Given the description of an element on the screen output the (x, y) to click on. 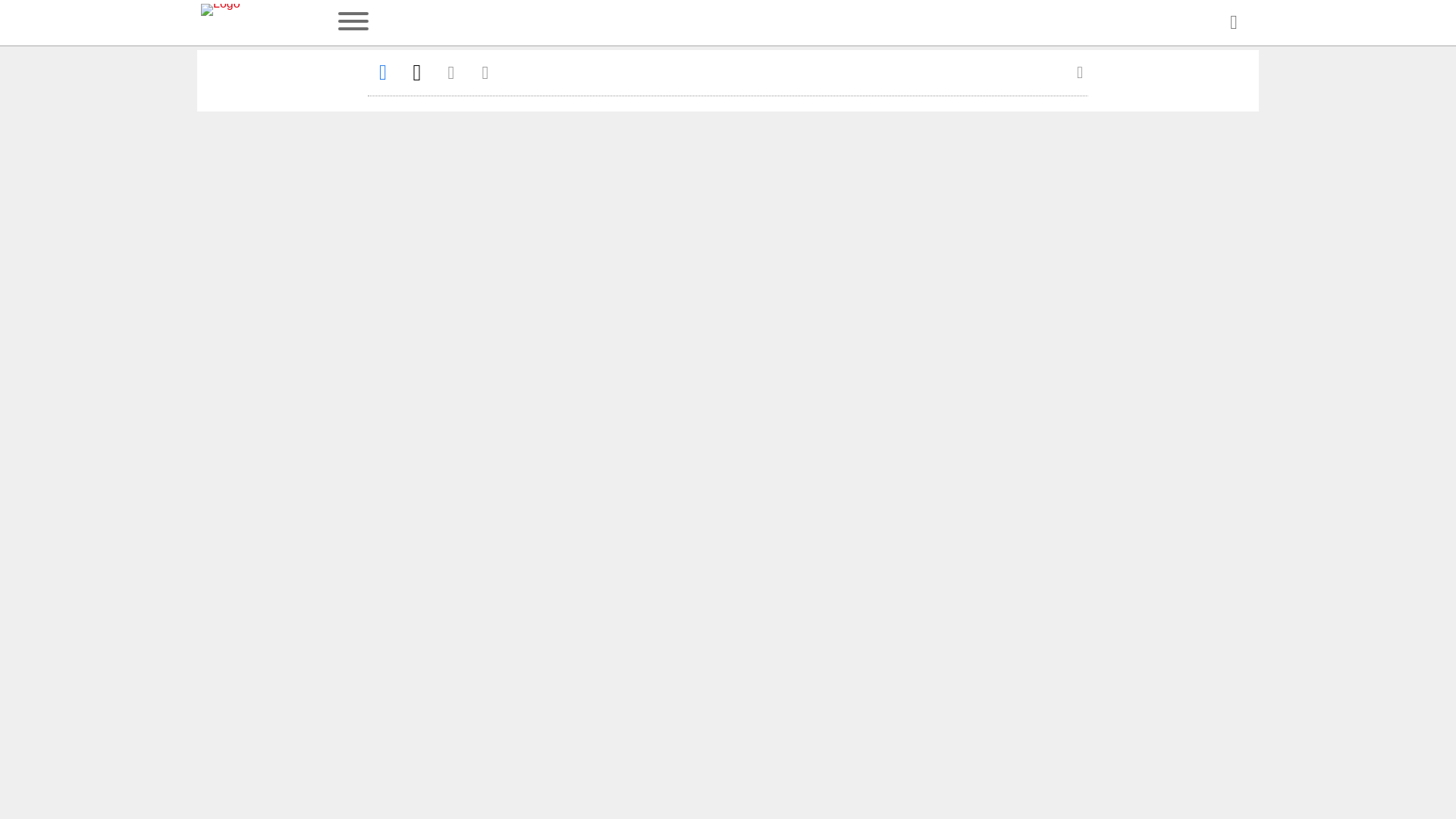
Share on Twitter (416, 72)
Open search (1233, 22)
Share on Facebook (382, 72)
menu (353, 22)
Copy link (485, 72)
Share via mail (450, 72)
